Given the description of an element on the screen output the (x, y) to click on. 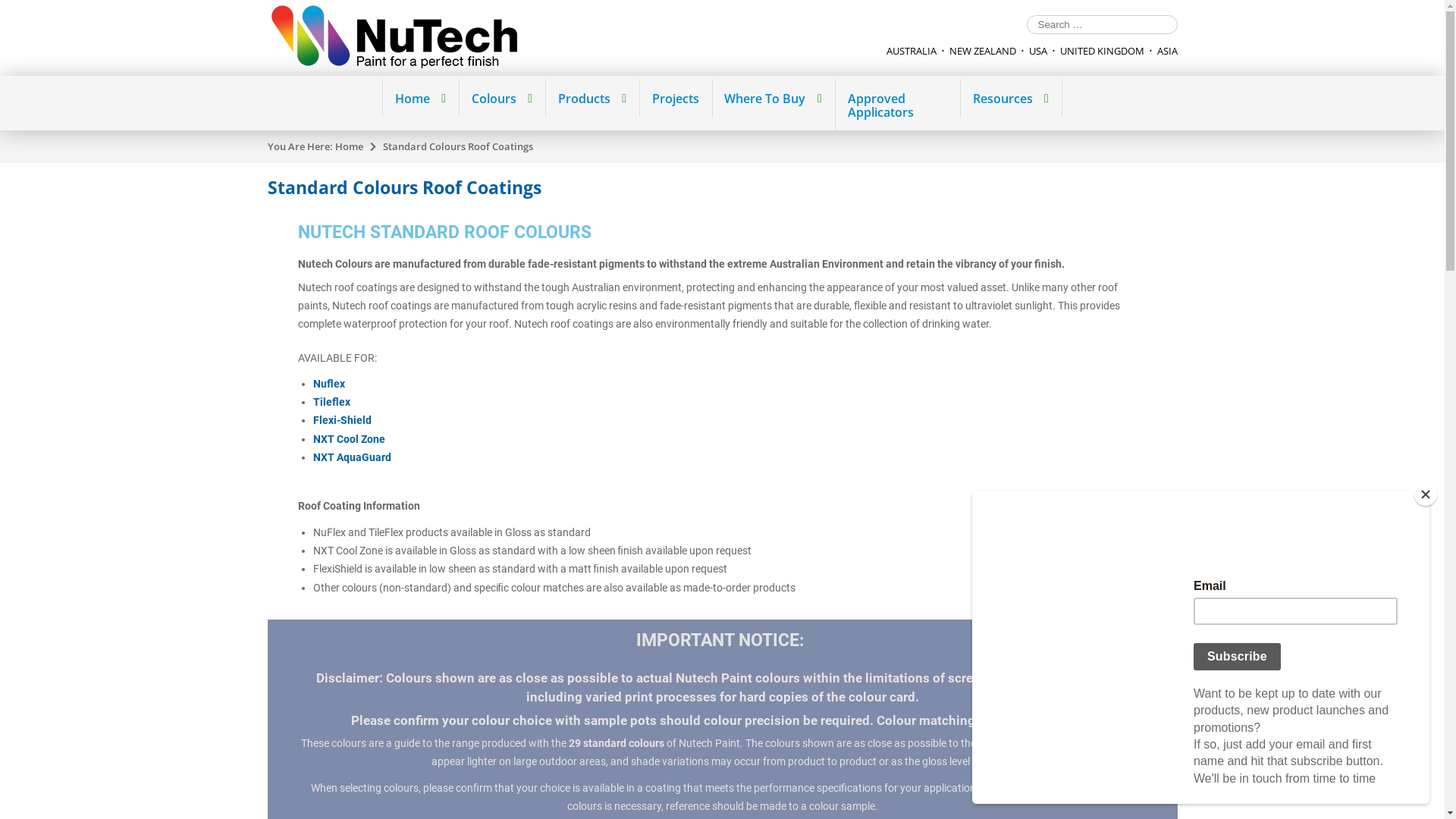
Tileflex Element type: text (330, 401)
Products Element type: text (591, 97)
ASIA Element type: text (1167, 50)
Approved Applicators Element type: text (896, 104)
NXT AquaGuard Element type: text (351, 457)
AUSTRALIA Element type: text (910, 50)
Projects Element type: text (675, 97)
Resources Element type: text (1010, 97)
USA Element type: text (1037, 50)
Search for: Element type: hover (1101, 24)
UNITED KINGDOM Element type: text (1102, 50)
Home Element type: text (419, 97)
NXT Cool Zone Element type: text (348, 439)
Where To Buy Element type: text (772, 97)
Colours Element type: text (501, 97)
Home Element type: text (349, 146)
Flexi-Shield Element type: text (341, 420)
NEW ZEALAND Element type: text (982, 50)
Nuflex Element type: text (328, 383)
